Given the description of an element on the screen output the (x, y) to click on. 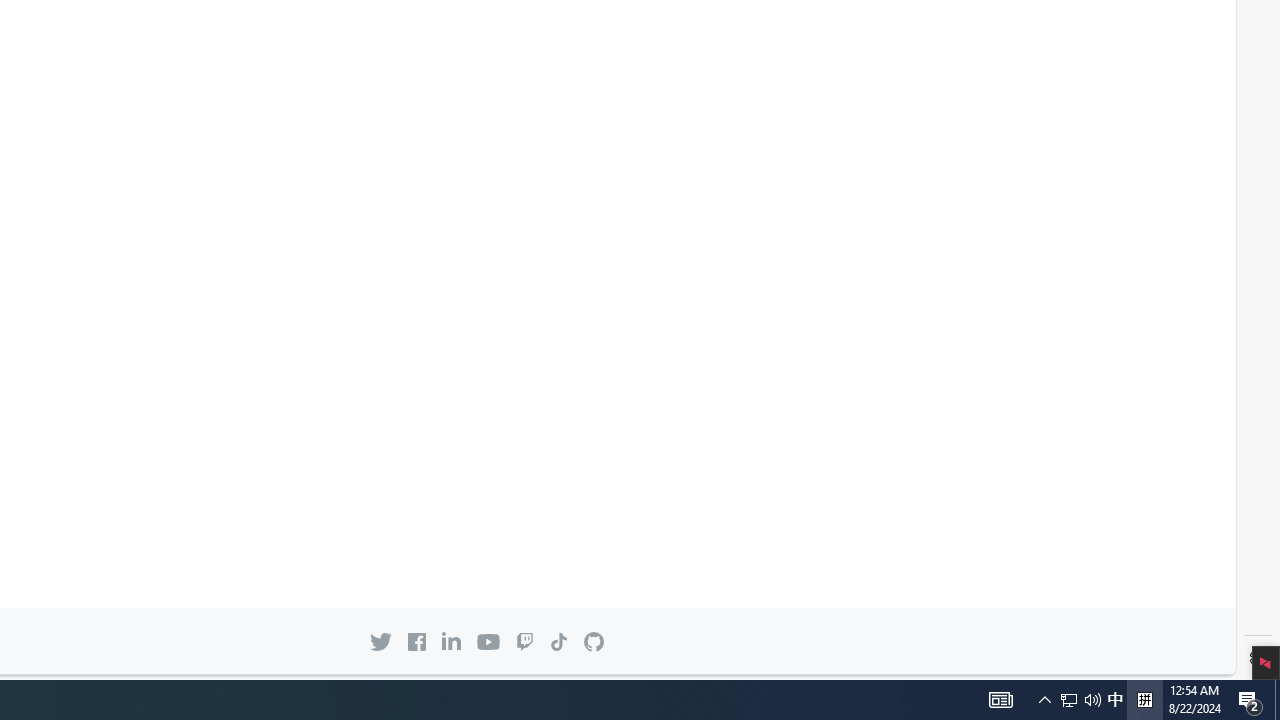
Twitter icon (380, 641)
GitHub mark (593, 642)
TikTok icon (559, 641)
Facebook icon (417, 641)
Facebook icon (417, 641)
